Given the description of an element on the screen output the (x, y) to click on. 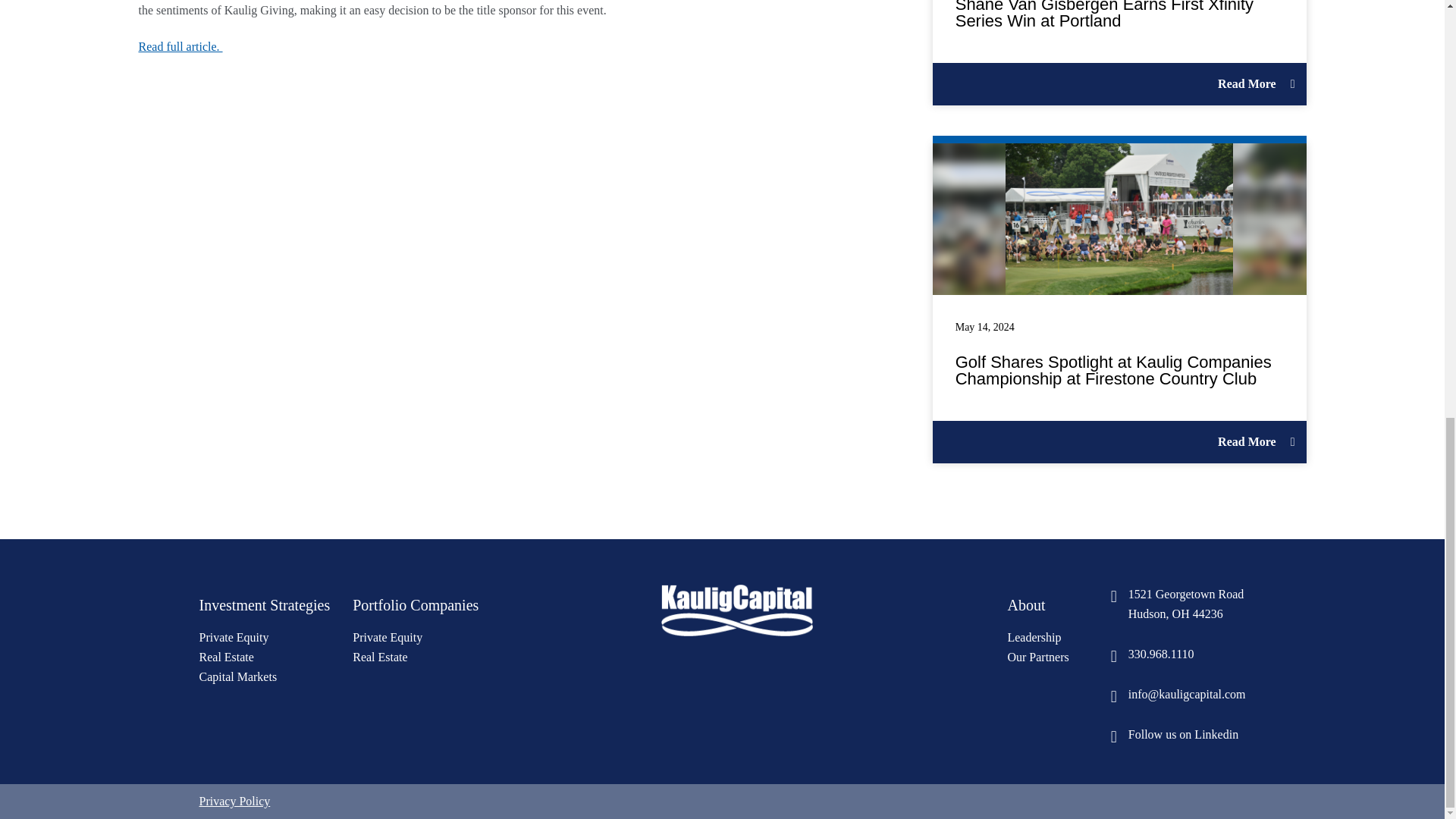
Private Equity (387, 637)
Privacy Policy (233, 800)
Our Partners (1037, 657)
330.968.1110 (1178, 654)
Private Equity (232, 637)
Real Estate (379, 657)
Investment Strategies (264, 606)
Real Estate (225, 657)
Capital Markets (237, 676)
Read full article.  (180, 46)
Leadership (1178, 604)
About (1034, 637)
